Given the description of an element on the screen output the (x, y) to click on. 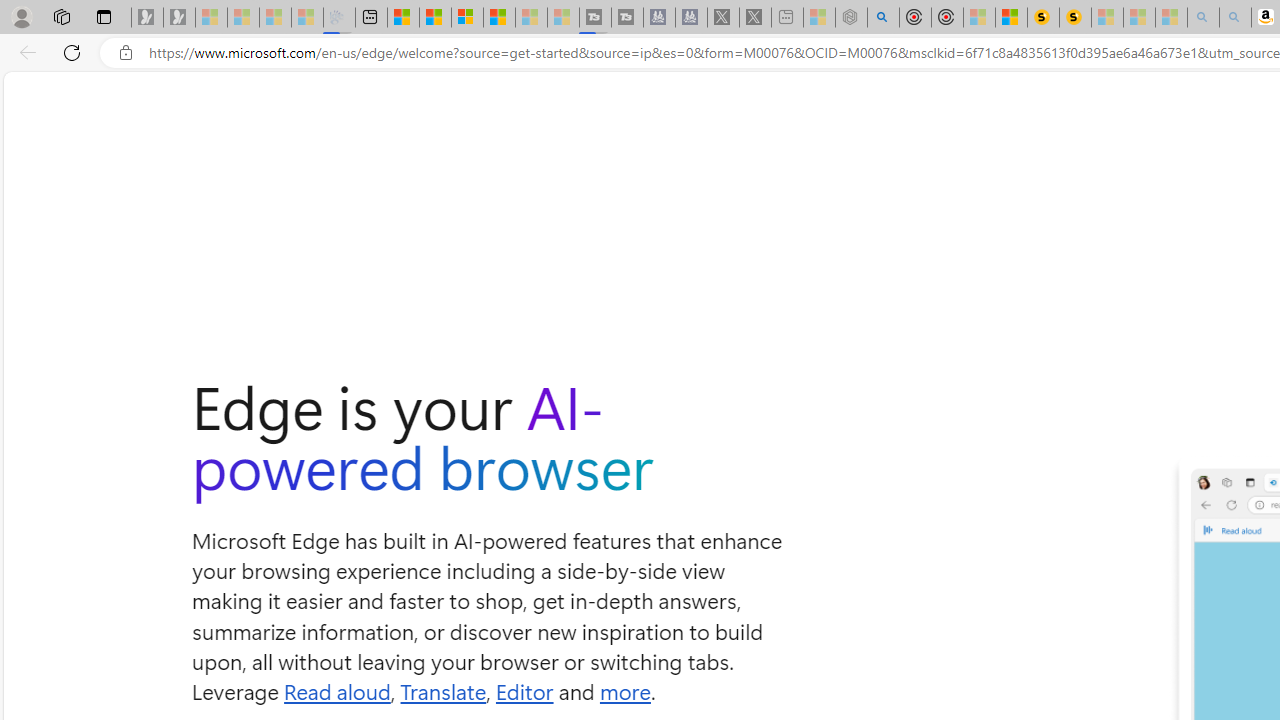
Overview (466, 17)
Newsletter Sign Up - Sleeping (178, 17)
Microsoft Start - Sleeping (530, 17)
Michelle Starr, Senior Journalist at ScienceAlert (1074, 17)
New tab - Sleeping (786, 17)
amazon - Search - Sleeping (1202, 17)
